Given the description of an element on the screen output the (x, y) to click on. 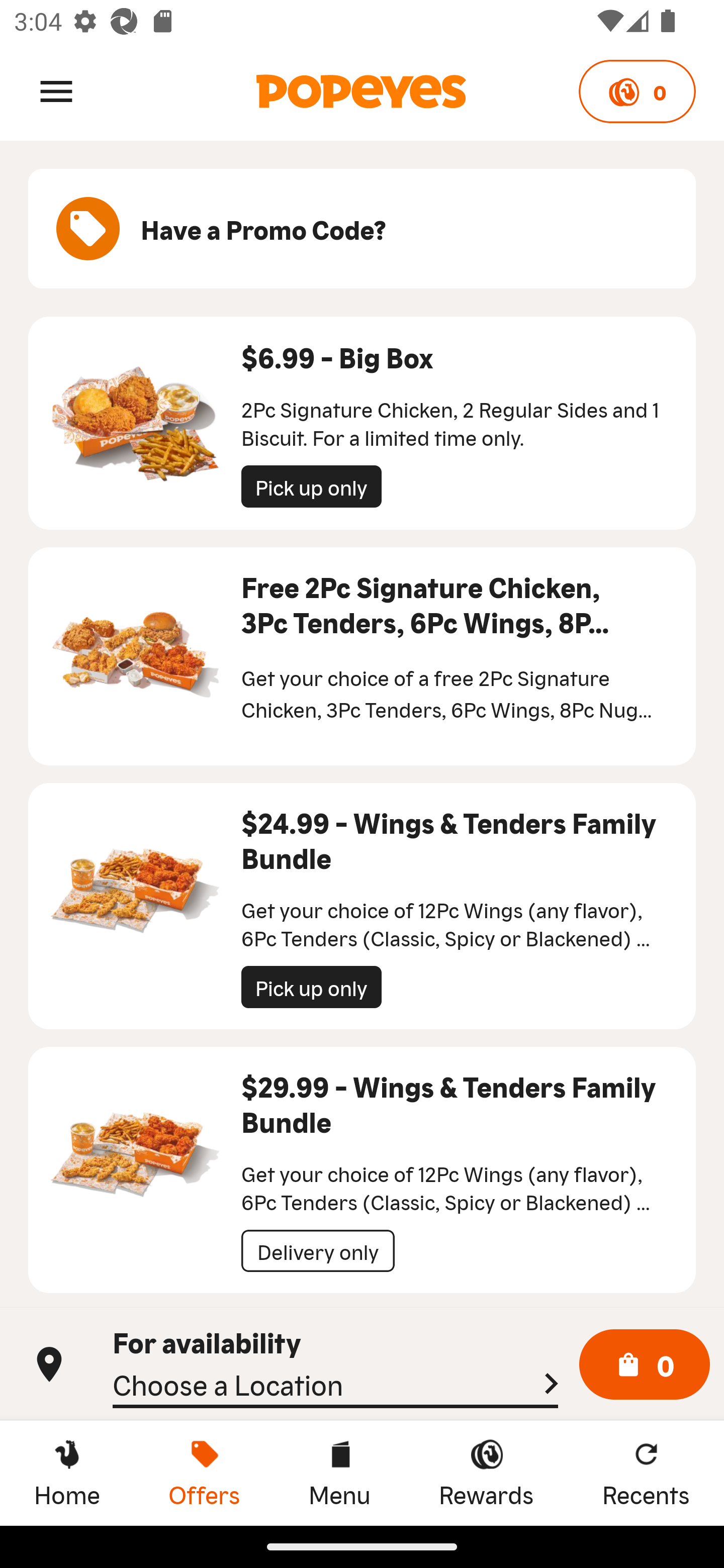
Menu  (56, 90)
0 Points 0 (636, 91)
Have a Promo Code?  Have a Promo Code? (361, 228)
0 Cart total  0 (644, 1364)
Home Home Home (66, 1472)
Offers, current page Offers Offers, current page (203, 1472)
Menu Menu Menu (339, 1472)
Rewards Rewards Rewards (486, 1472)
Recents Recents Recents (646, 1472)
